Given the description of an element on the screen output the (x, y) to click on. 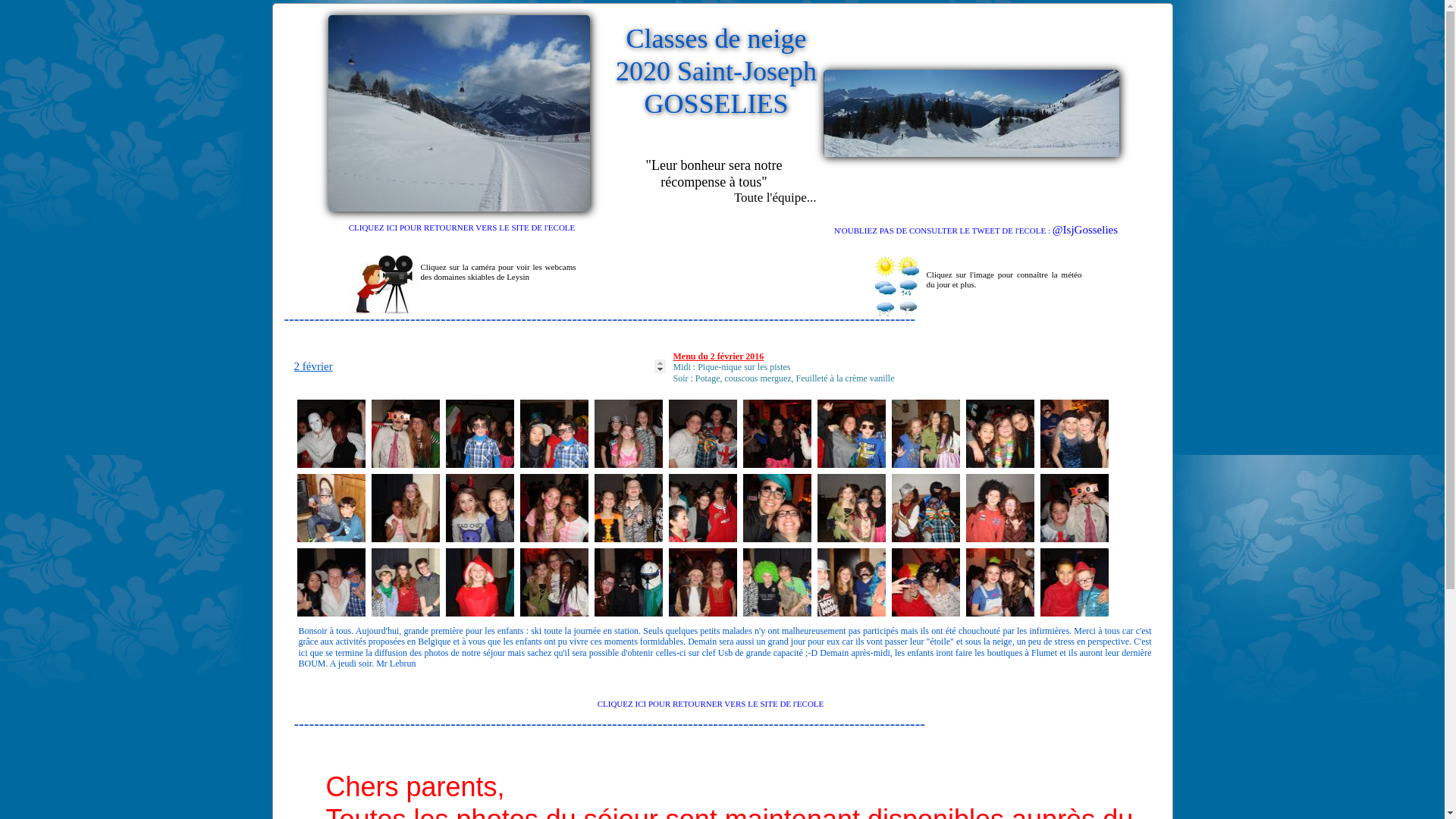
N'OUBLIEZ PAS DE CONSULTER LE TWEET DE l'ECOLE : Element type: text (943, 228)
CLIQUEZ ICI POUR RETOURNER VERS LE SITE DE l'ECOLE Element type: text (710, 702)
@IsjGosselies Element type: text (1084, 228)
CLIQUEZ ICI POUR RETOURNER VERS LE SITE DE l'ECOLE Element type: text (461, 225)
  Element type: text (267, 6)
